Given the description of an element on the screen output the (x, y) to click on. 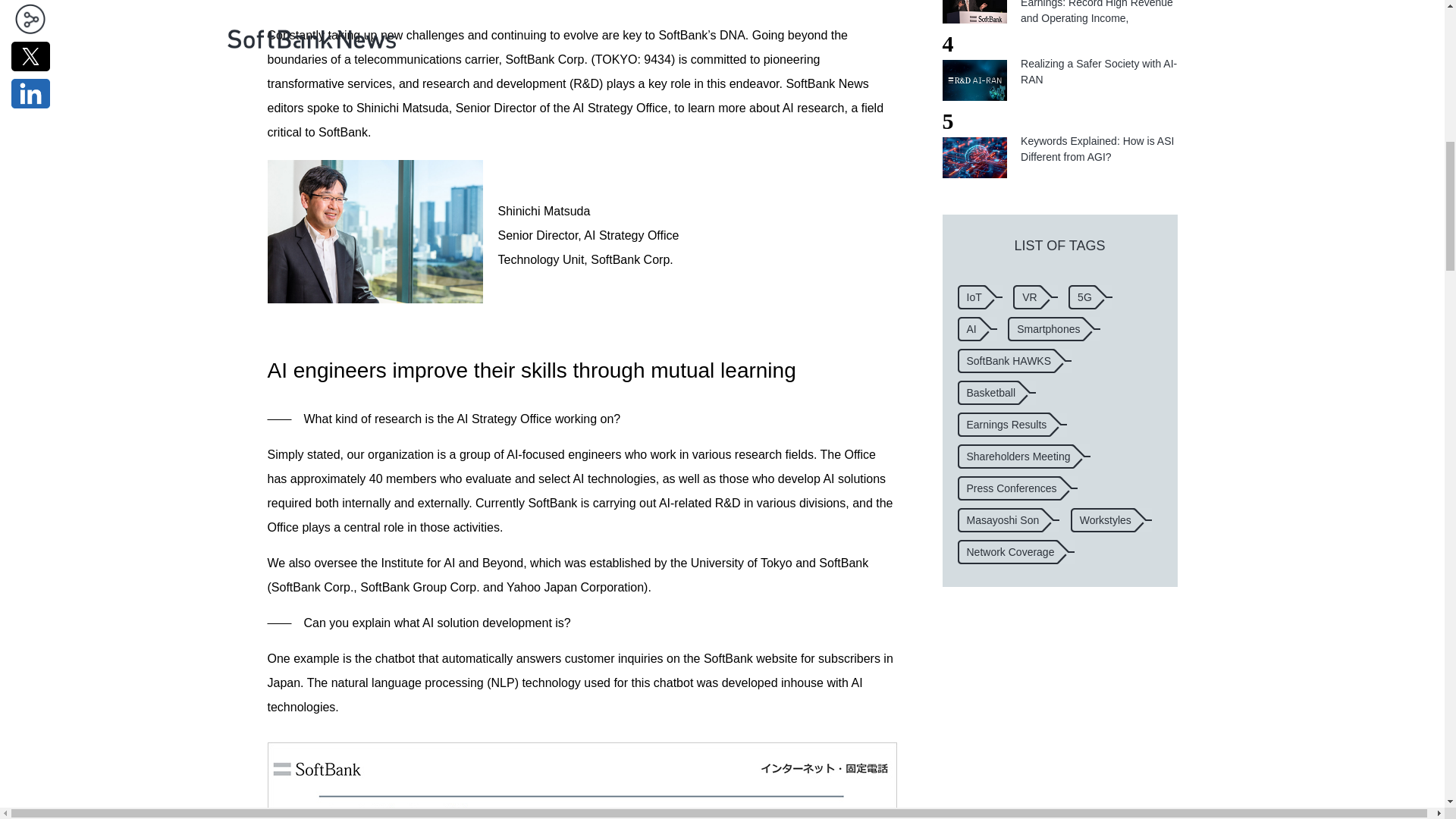
Keywords Explained: How is ASI Different from AGI? (974, 157)
Realizing a Safer Society with AI-RAN (974, 79)
